Given the description of an element on the screen output the (x, y) to click on. 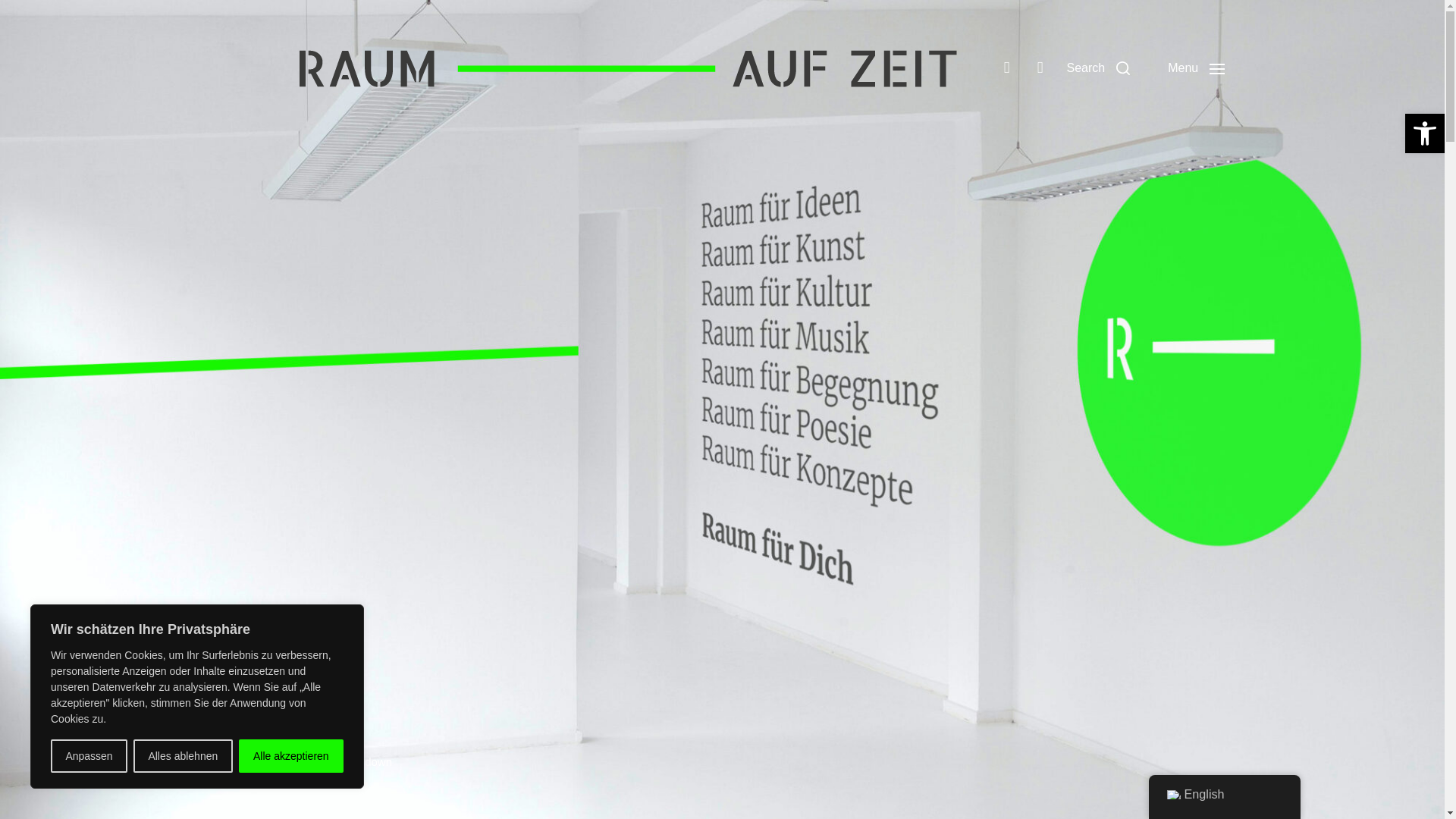
Anpassen (89, 756)
English (1172, 794)
Alle akzeptieren (290, 756)
Alles ablehnen (182, 756)
